Given the description of an element on the screen output the (x, y) to click on. 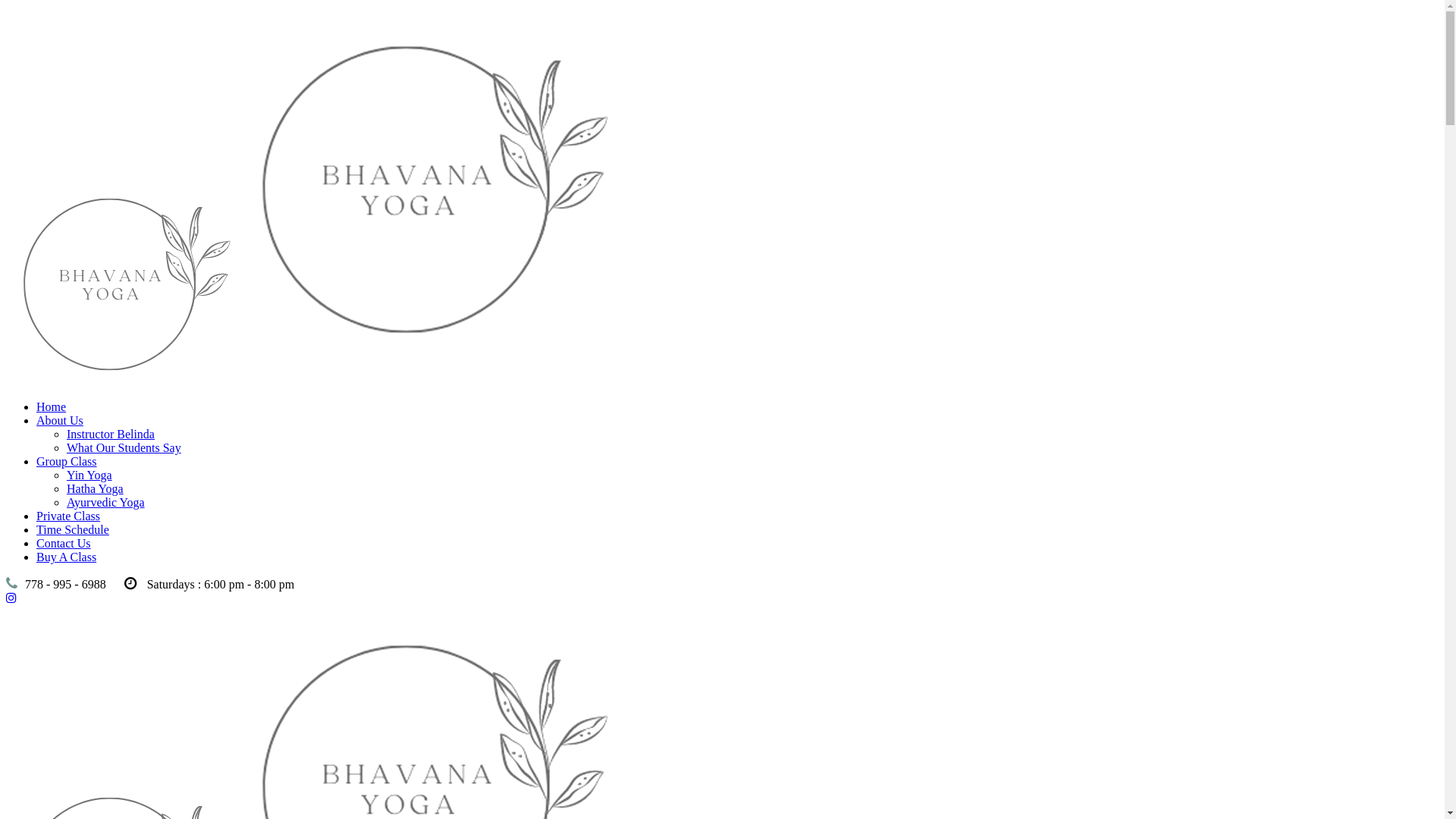
Contact Us Element type: text (63, 542)
Ayurvedic Yoga Element type: text (105, 501)
Instructor Belinda Element type: text (110, 433)
Group Class Element type: text (66, 461)
About Us Element type: text (59, 420)
Home Element type: text (50, 406)
Buy A Class Element type: text (66, 556)
Bhavana Yoga Logo Element type: hover (428, 195)
Time Schedule Element type: text (72, 529)
Private Class Element type: text (68, 515)
instagram Element type: hover (11, 597)
Yin Yoga Element type: text (89, 474)
Bhavana-Yoga-Class-Good Element type: hover (122, 282)
Hatha Yoga Element type: text (94, 488)
What Our Students Say Element type: text (123, 447)
